Given the description of an element on the screen output the (x, y) to click on. 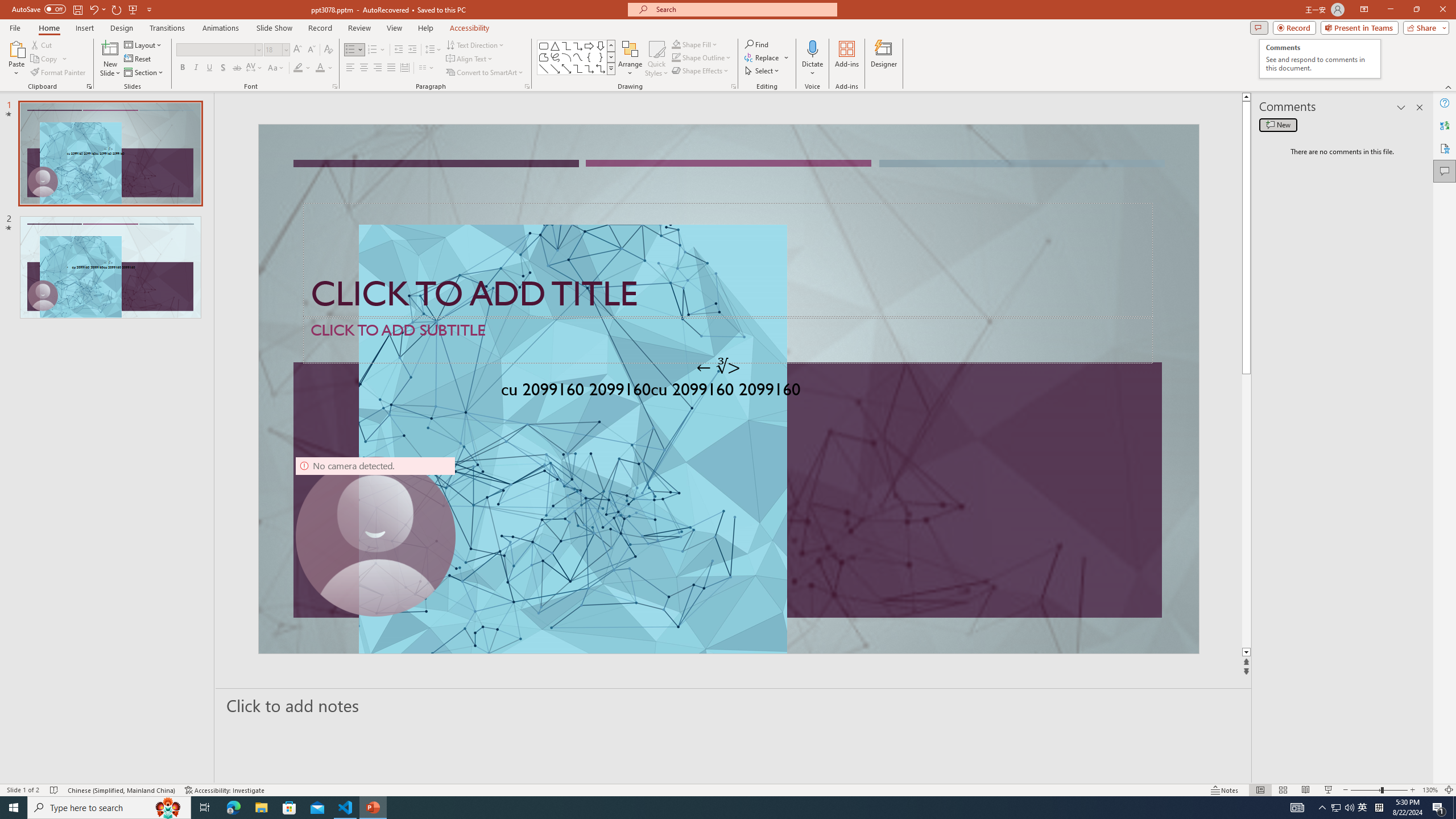
Shape Effects (700, 69)
